Given the description of an element on the screen output the (x, y) to click on. 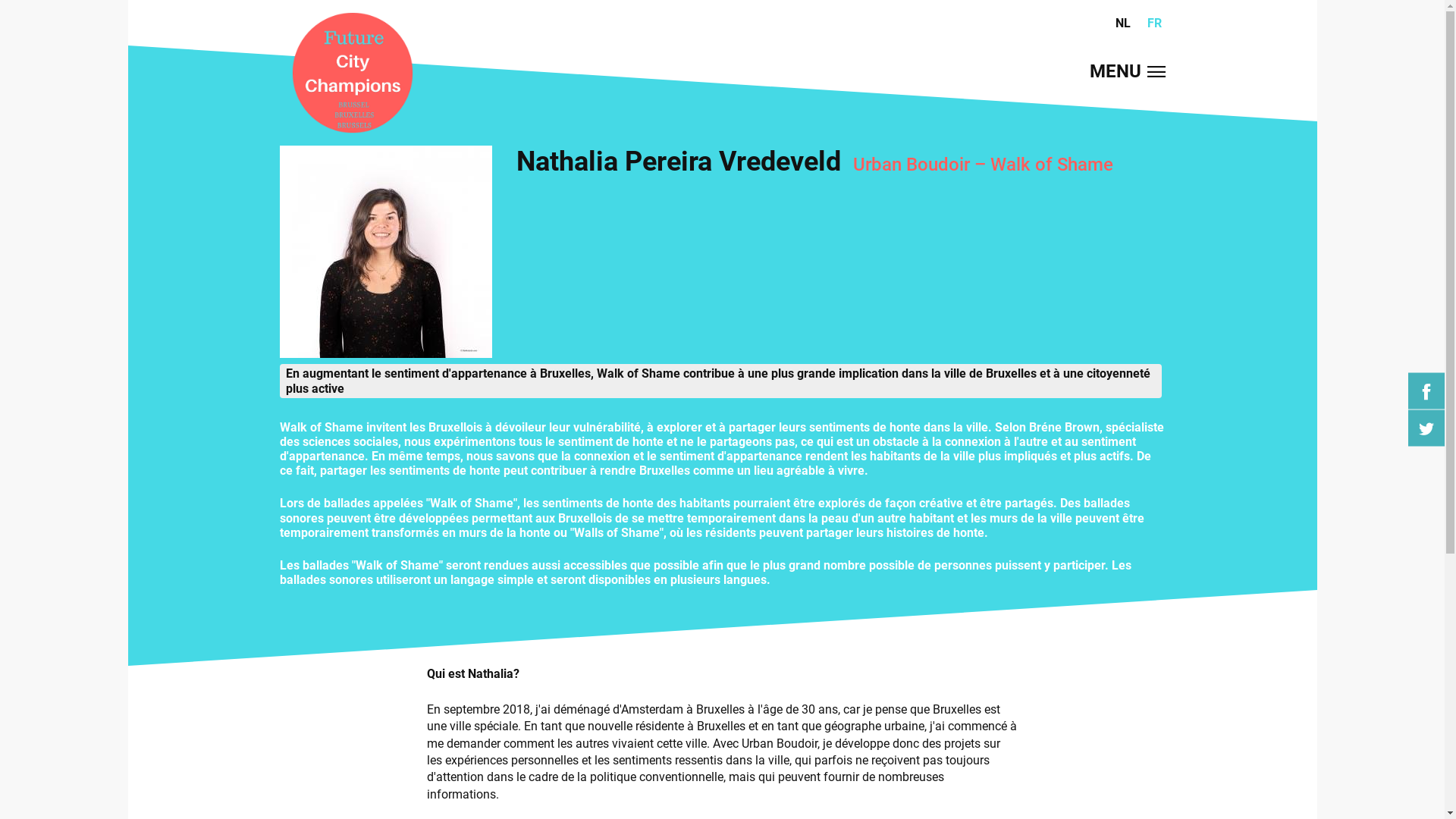
facebook Element type: text (1426, 391)
NL Element type: text (1122, 23)
MENU Element type: text (1126, 71)
FR Element type: text (1154, 23)
Skip to main content Element type: text (55, 0)
twitter Element type: text (1426, 427)
Home Element type: hover (351, 74)
